Given the description of an element on the screen output the (x, y) to click on. 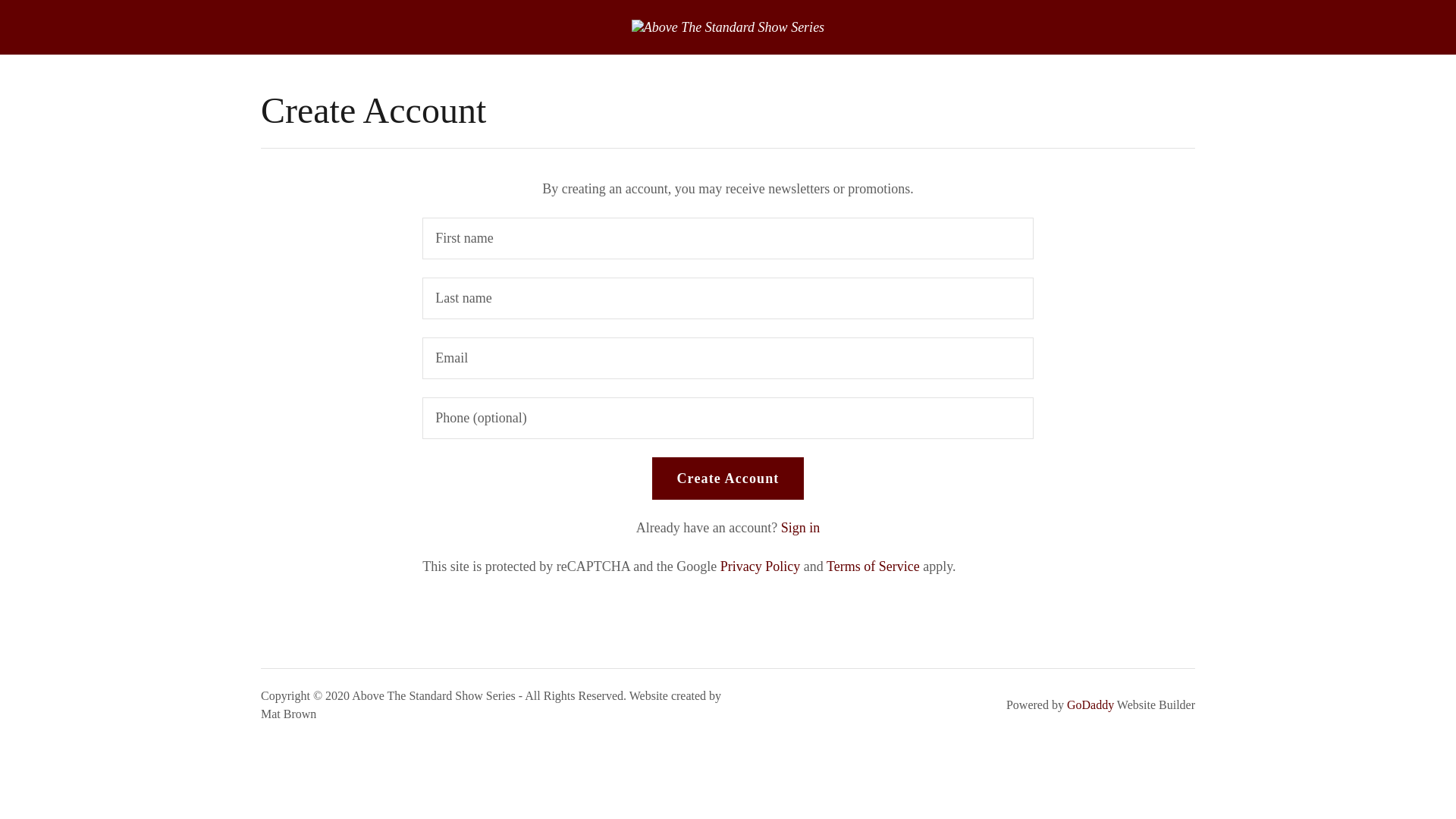
Above The Standard Show Series (727, 26)
